Given the description of an element on the screen output the (x, y) to click on. 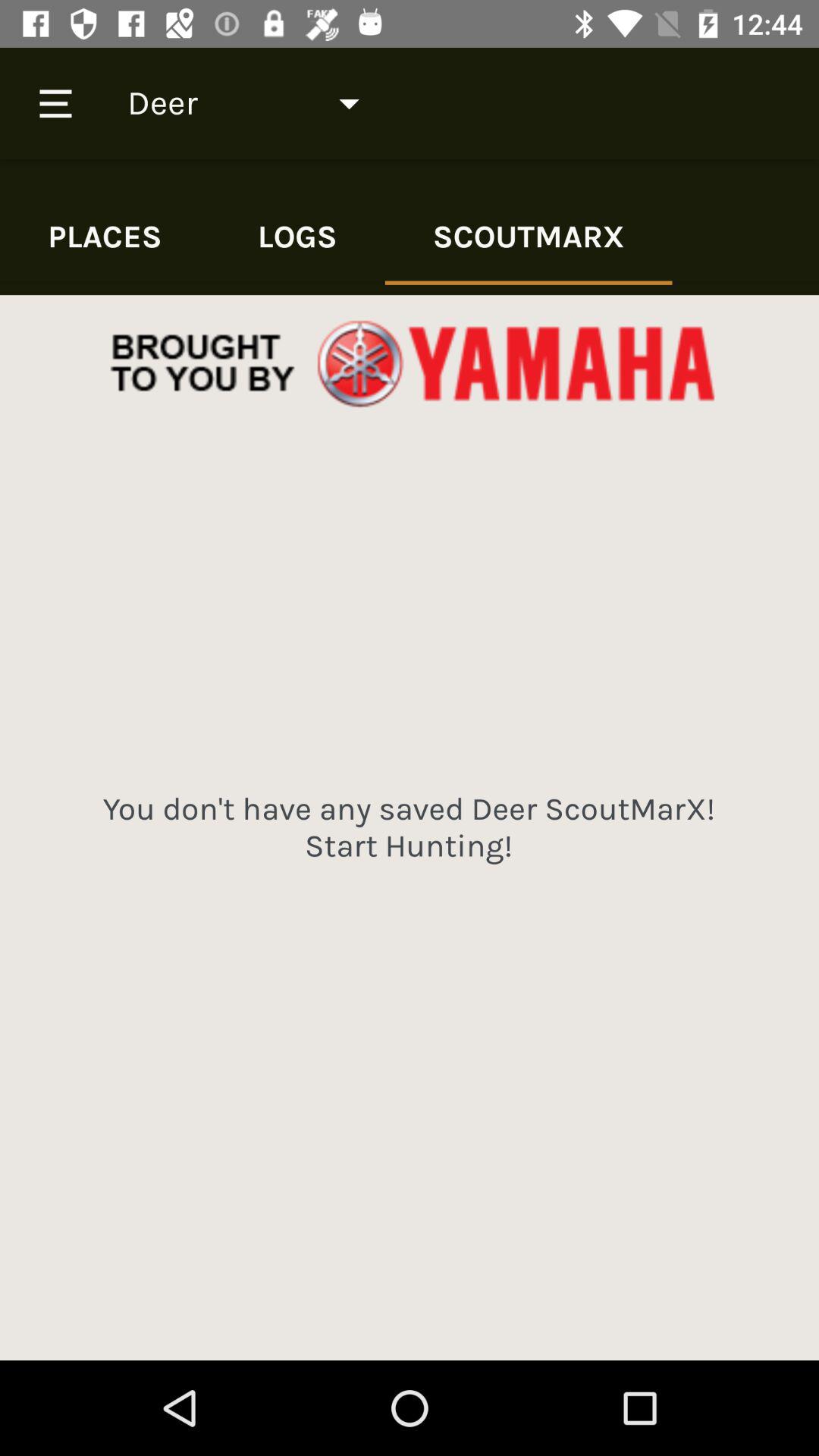
advertising (409, 364)
